Given the description of an element on the screen output the (x, y) to click on. 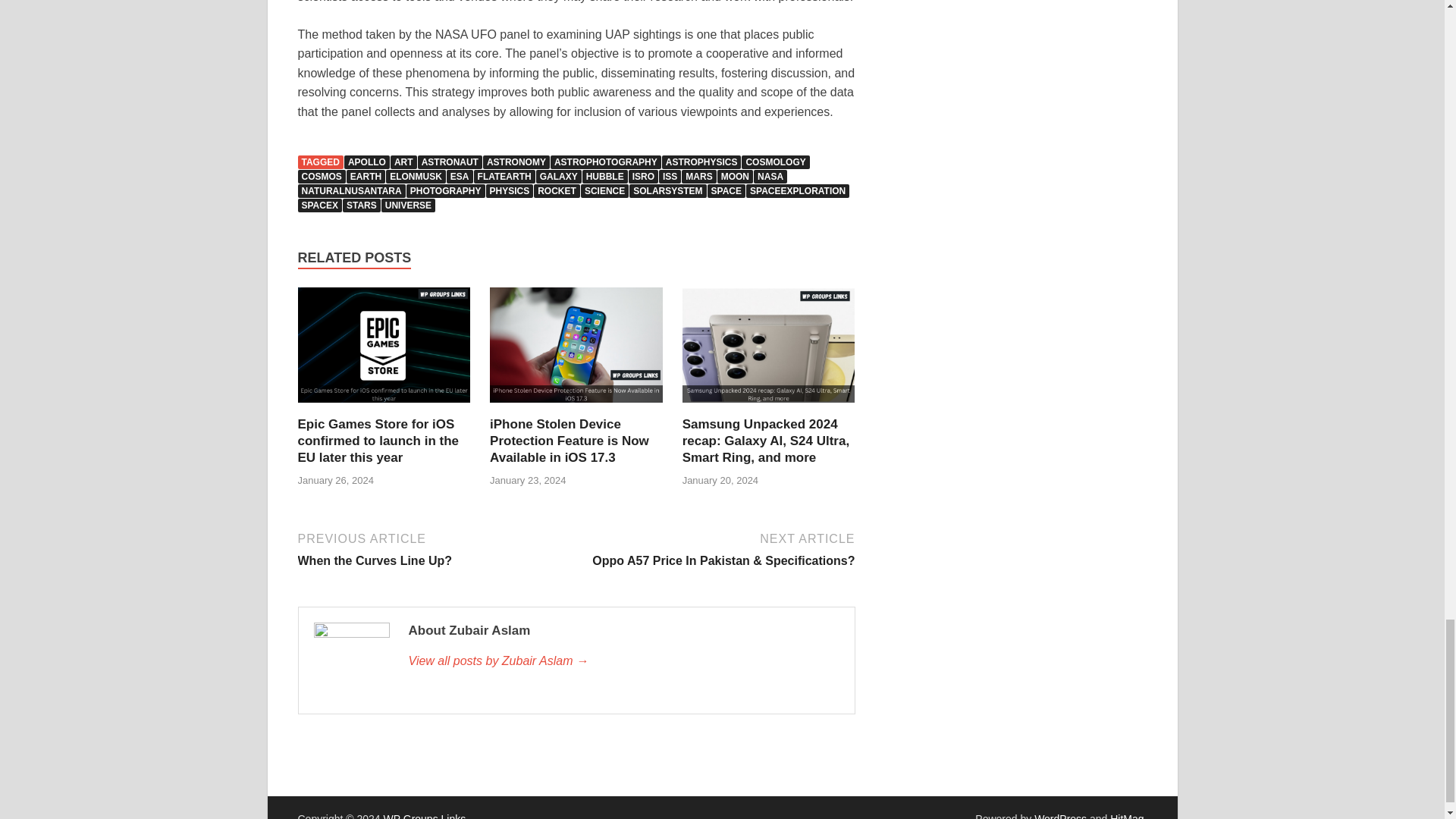
NASA (770, 176)
Zubair Aslam (622, 660)
GALAXY (557, 176)
ISRO (643, 176)
ESA (459, 176)
PHYSICS (510, 191)
MARS (698, 176)
HUBBLE (604, 176)
NATURALNUSANTARA (350, 191)
